Given the description of an element on the screen output the (x, y) to click on. 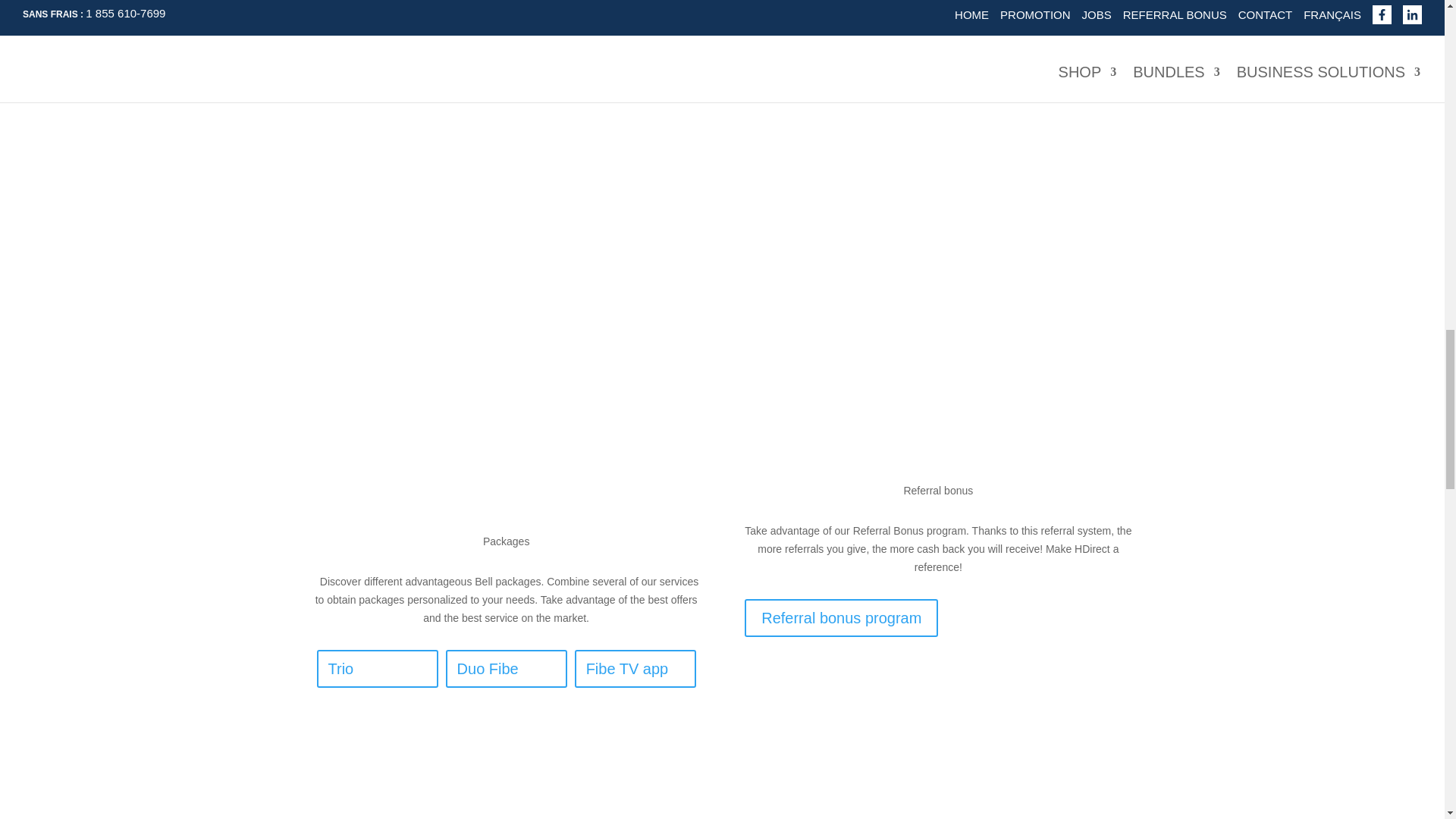
Fibe TV app (635, 668)
Trio (377, 668)
Duo Fibe (506, 668)
Referral bonus program (840, 617)
